Given the description of an element on the screen output the (x, y) to click on. 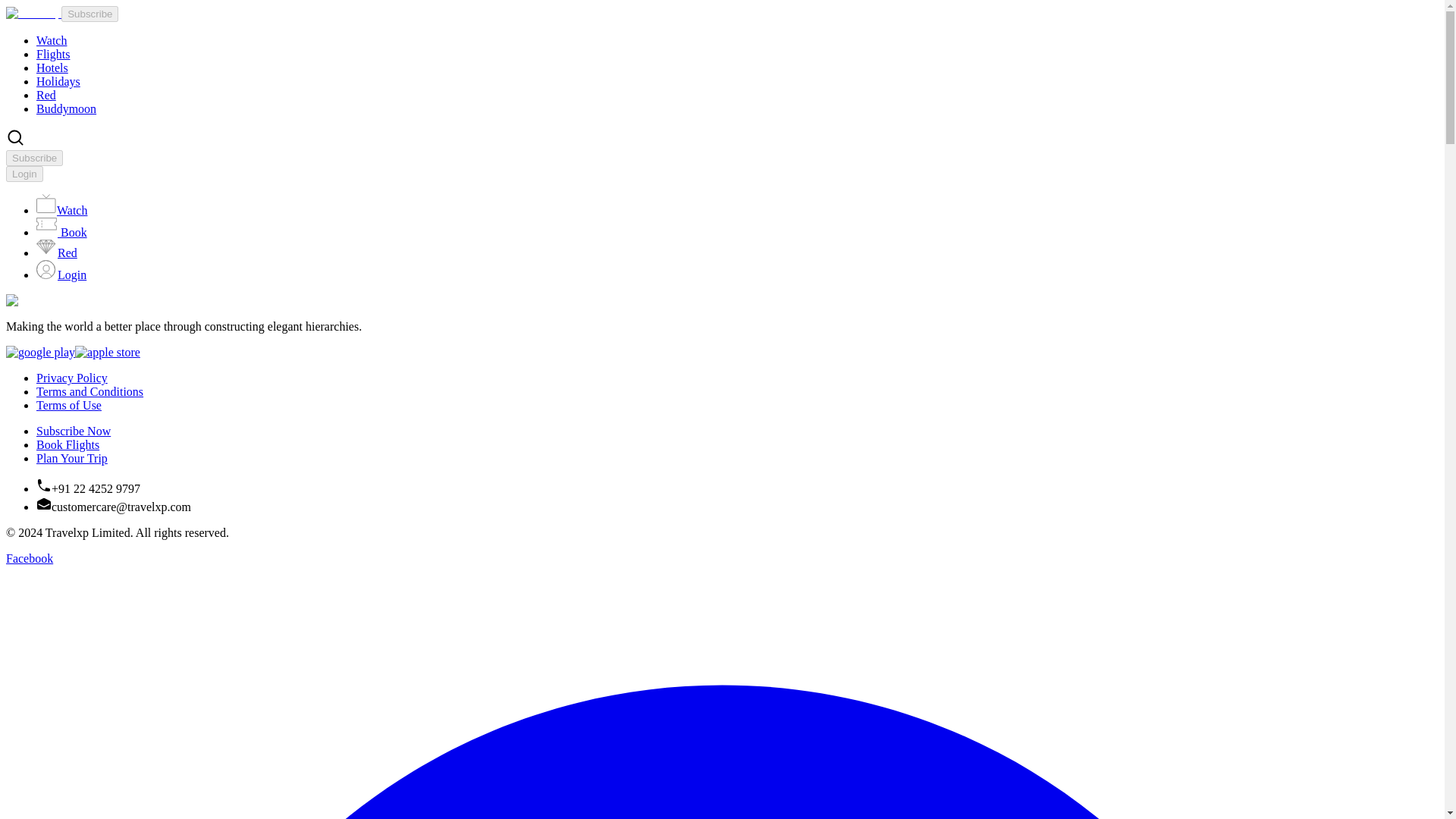
Watch (51, 40)
Privacy Policy (71, 377)
Plan Your Trip (71, 458)
Login (24, 173)
Subscribe Now (73, 431)
Terms and Conditions (89, 391)
Subscribe (89, 13)
Subscribe (61, 12)
Terms of Use (68, 404)
Book (61, 232)
